Given the description of an element on the screen output the (x, y) to click on. 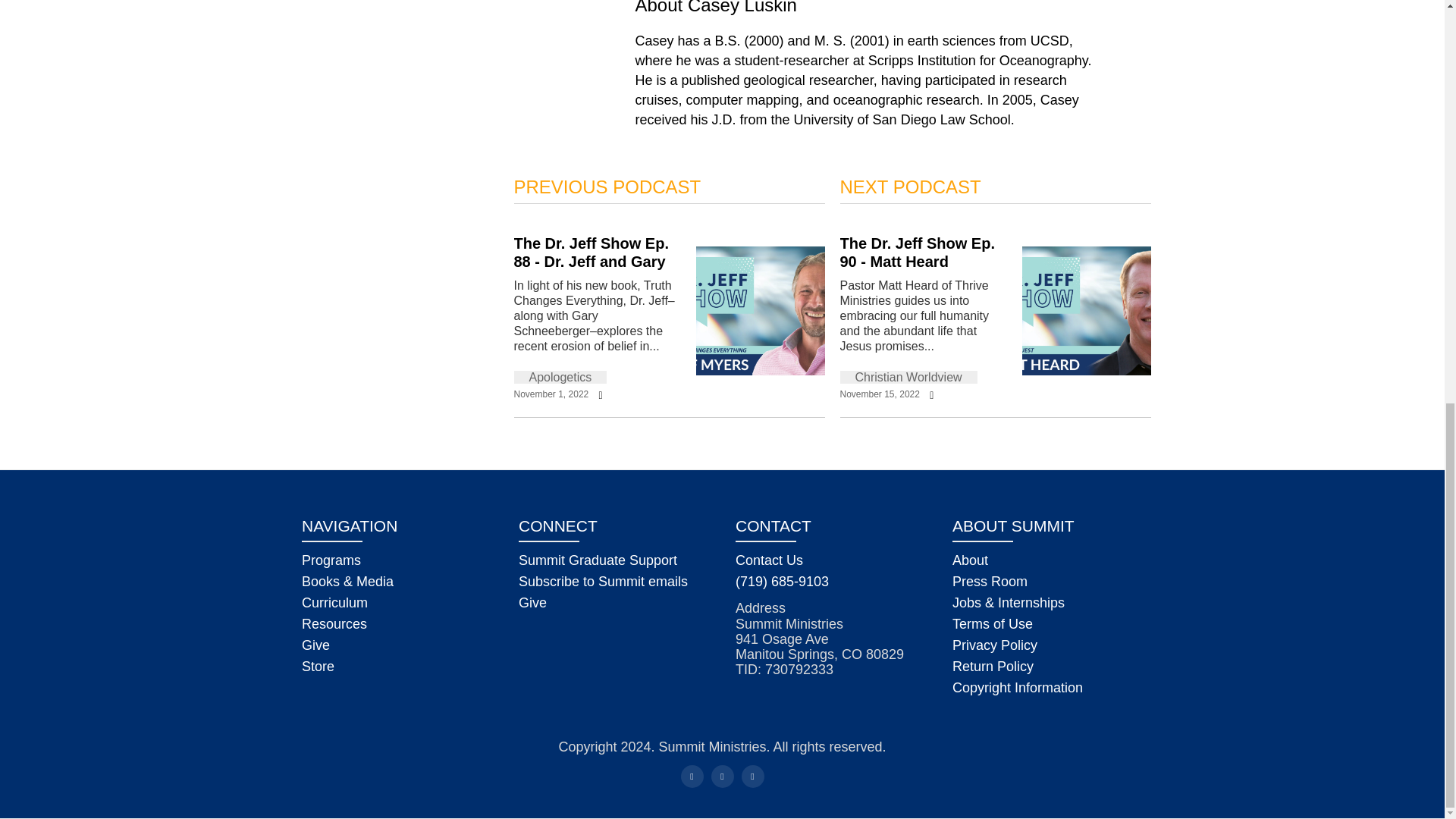
Contact Summit (769, 560)
